Given the description of an element on the screen output the (x, y) to click on. 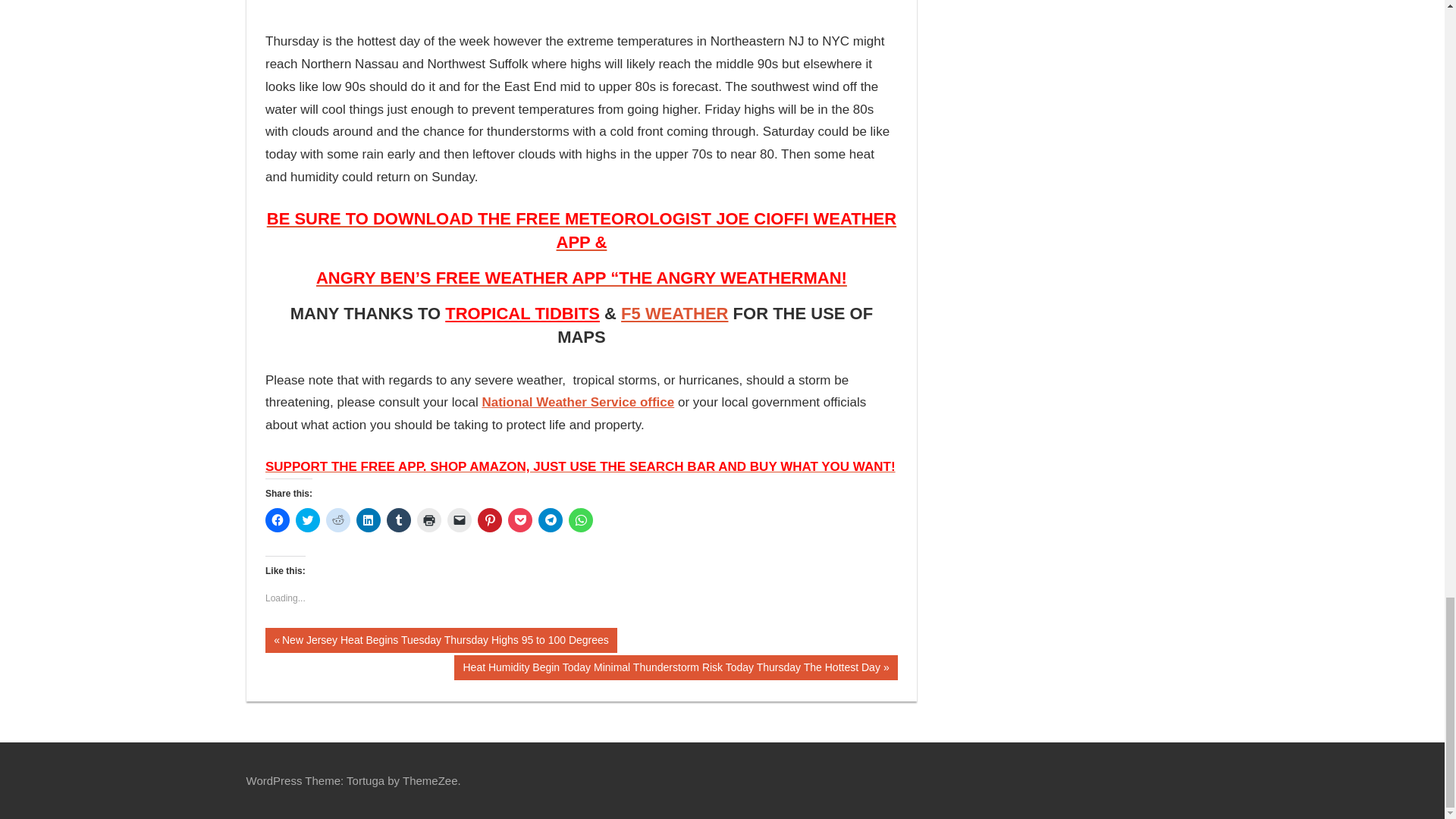
Click to share on Pocket (520, 519)
TROPICAL TIDBITS (522, 312)
Click to share on Pinterest (489, 519)
Click to share on Reddit (338, 519)
Click to share on Tumblr (398, 519)
National Weather Service office (577, 401)
F5 WEATHER (674, 312)
Click to print (428, 519)
Click to share on WhatsApp (580, 519)
Click to share on Twitter (307, 519)
